Given the description of an element on the screen output the (x, y) to click on. 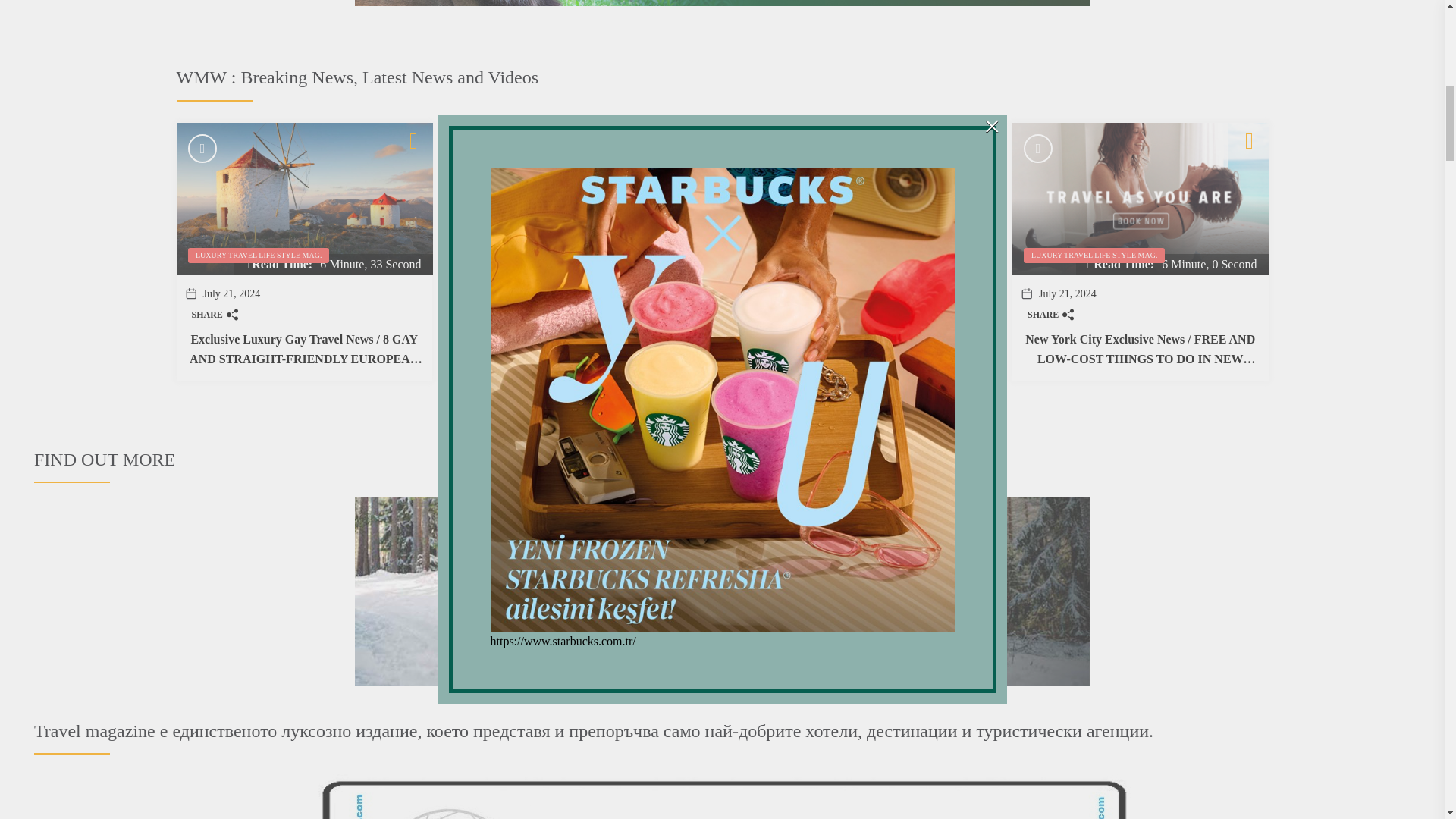
SHARE (213, 314)
July 21, 2024 (509, 293)
July 21, 2024 (788, 293)
SHARE (493, 314)
LUXURY TRAVEL LIFE STYLE MAG. (258, 255)
LUXURY TRAVEL LIFE STYLE MAG. (814, 255)
SHARE (771, 314)
July 21, 2024 (231, 293)
LUXURY TRAVEL LIFE STYLE MAG. (536, 255)
